Given the description of an element on the screen output the (x, y) to click on. 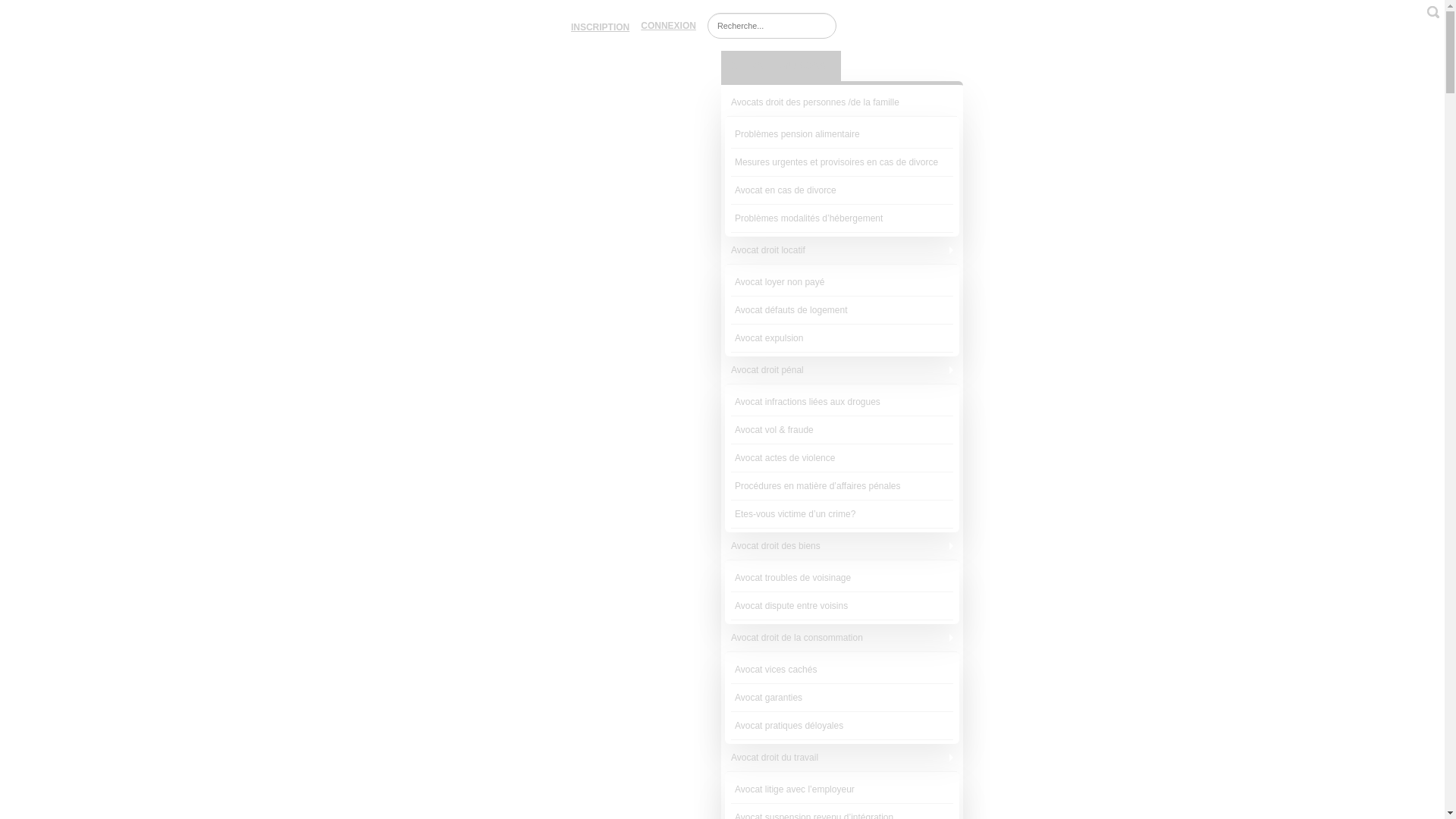
Clear search text Element type: hover (822, 24)
Avocat droit du travail Element type: text (842, 757)
CONNEXION Element type: text (668, 25)
CHERCHE UN AVOCAT Element type: text (780, 65)
INSCRIPTION Element type: text (600, 25)
Avocat vol & fraude Element type: text (842, 430)
Avocat droit des biens Element type: text (842, 546)
Avocat droit de la consommation Element type: text (842, 638)
  Element type: text (1432, 12)
Avocat en cas de divorce Element type: text (842, 190)
Avocat droit locatif Element type: text (842, 250)
Avocat dispute entre voisins Element type: text (842, 606)
Avocat actes de violence Element type: text (842, 458)
Mesures urgentes et provisoires en cas de divorce Element type: text (842, 162)
Avocat expulsion Element type: text (842, 338)
Avocat troubles de voisinage Element type: text (842, 578)
Avocats droit des personnes /de la famille Element type: text (842, 102)
Avocat garanties Element type: text (842, 698)
